Given the description of an element on the screen output the (x, y) to click on. 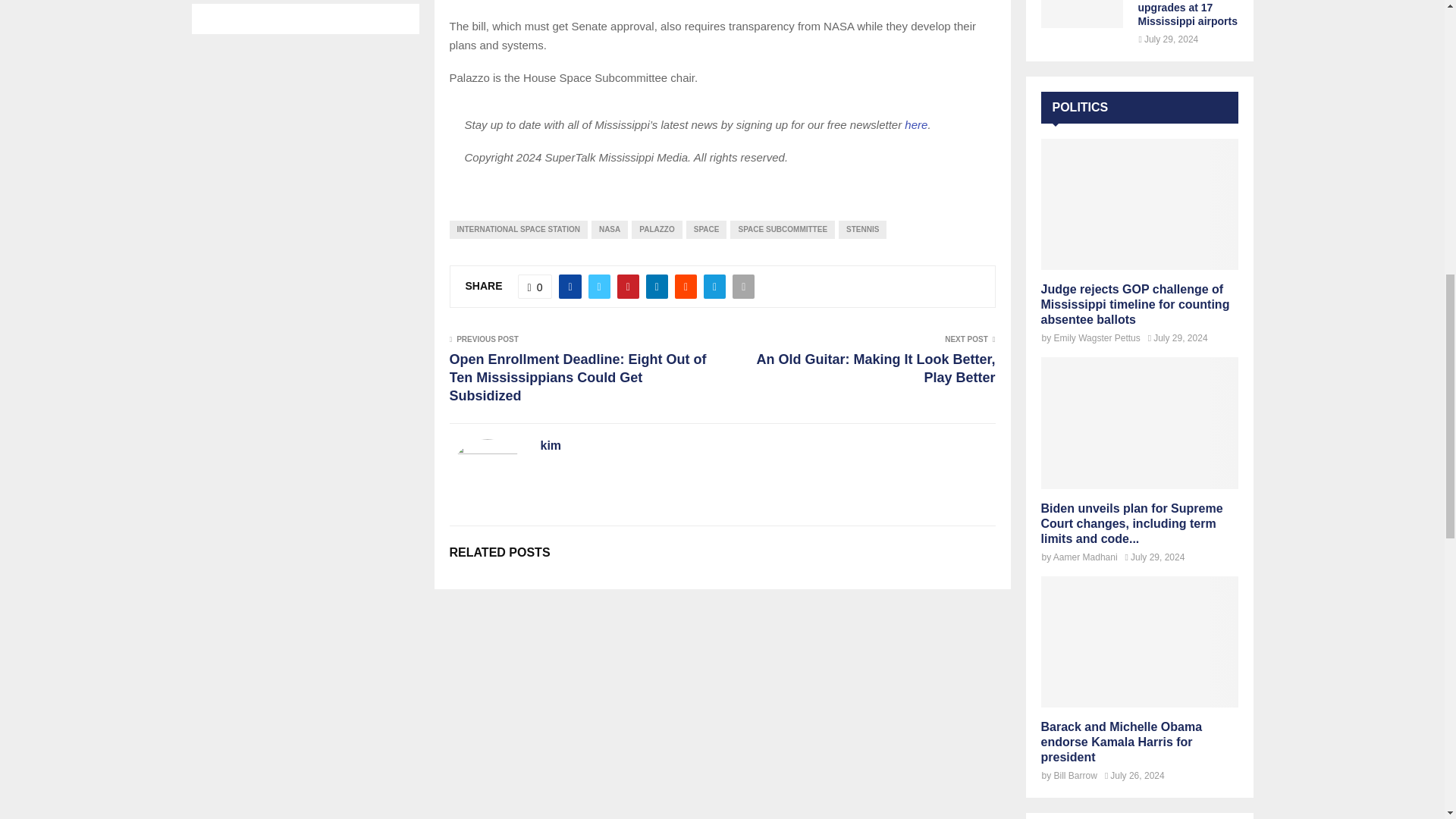
Posts by kim (550, 446)
Like (535, 286)
